Given the description of an element on the screen output the (x, y) to click on. 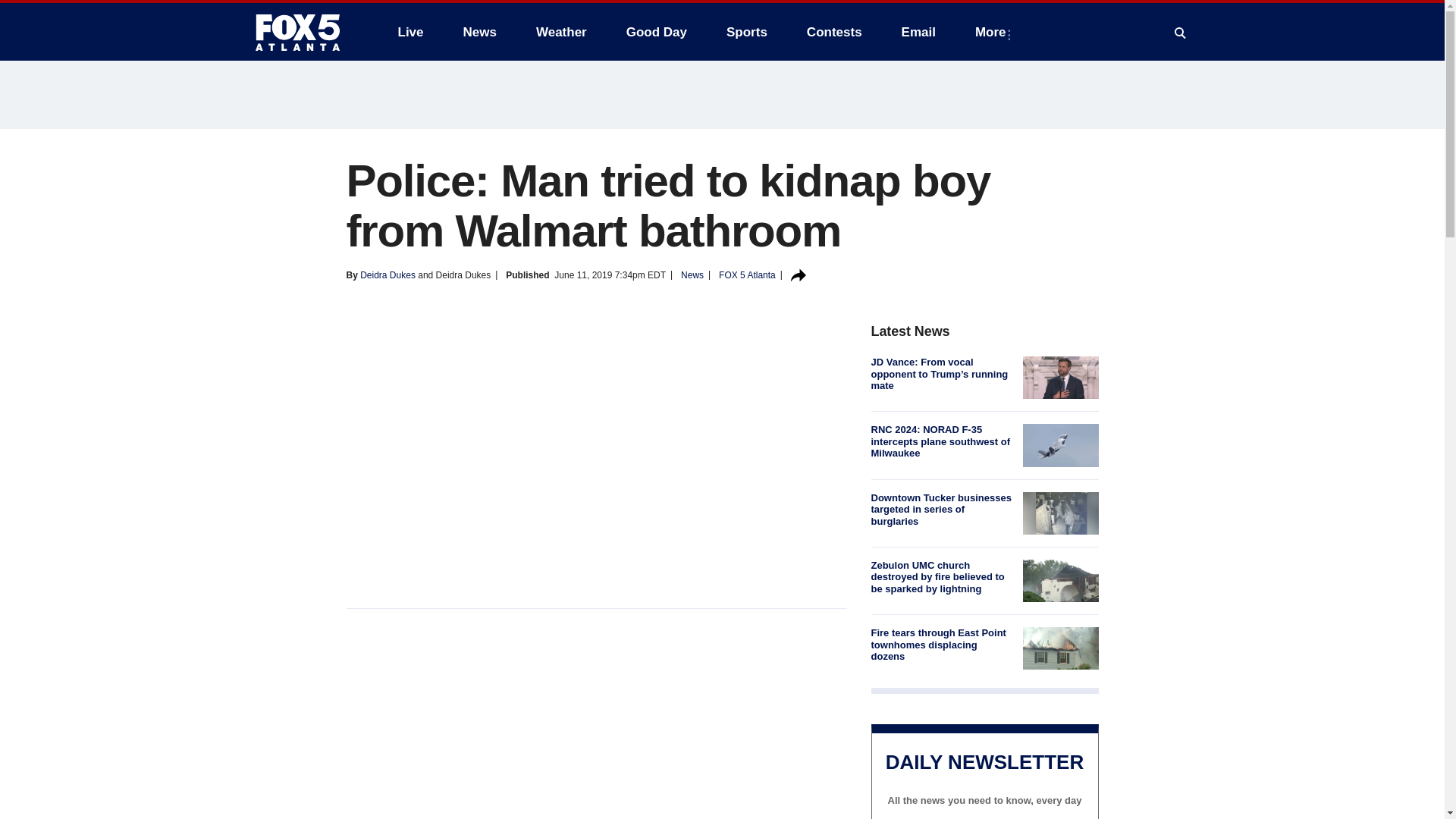
Email (918, 32)
More (993, 32)
News (479, 32)
Live (410, 32)
Good Day (656, 32)
Contests (834, 32)
Sports (746, 32)
Weather (561, 32)
